Given the description of an element on the screen output the (x, y) to click on. 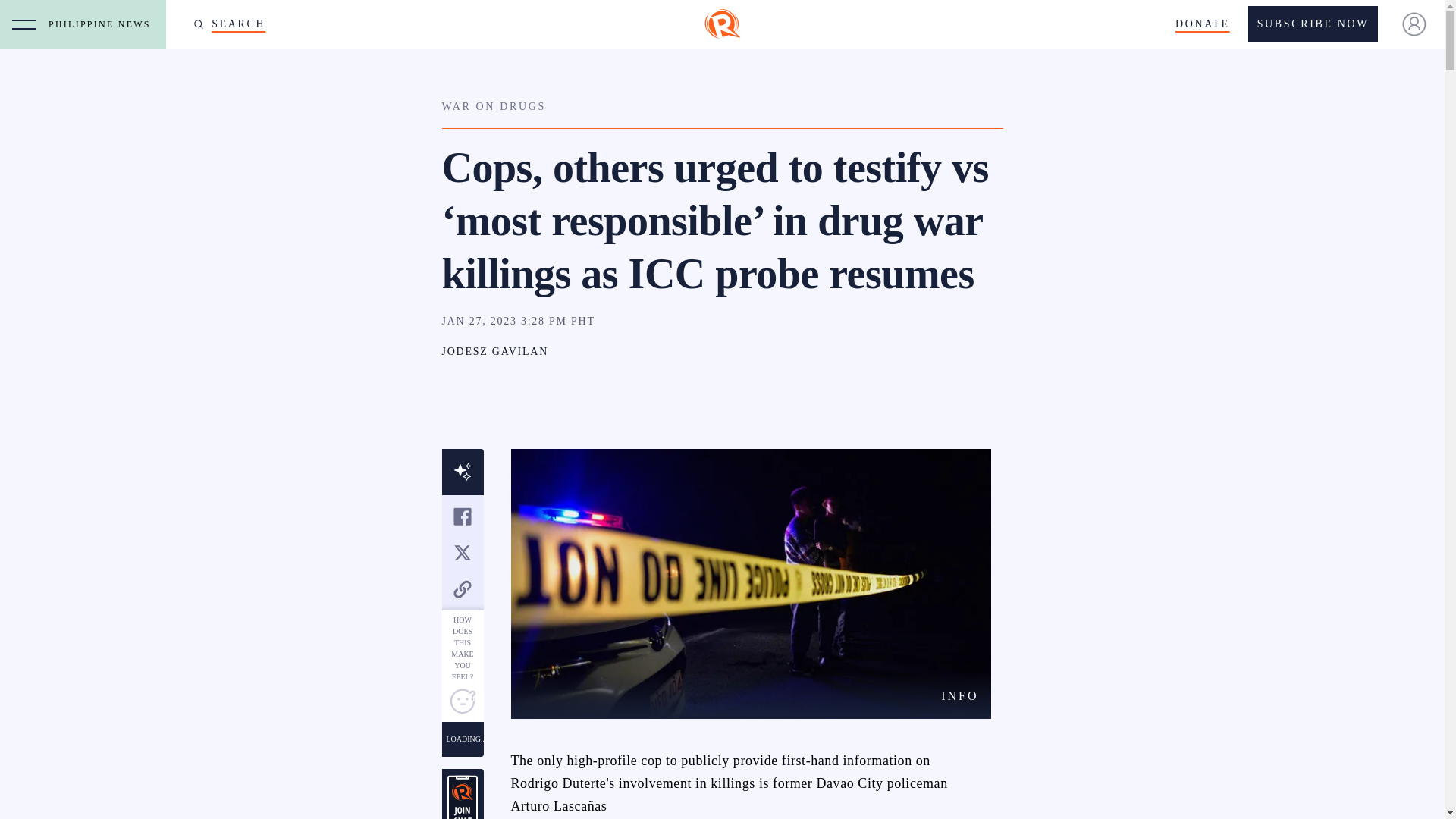
OPEN NAVIGATION (24, 24)
PHILIPPINE NEWS (103, 23)
